Given the description of an element on the screen output the (x, y) to click on. 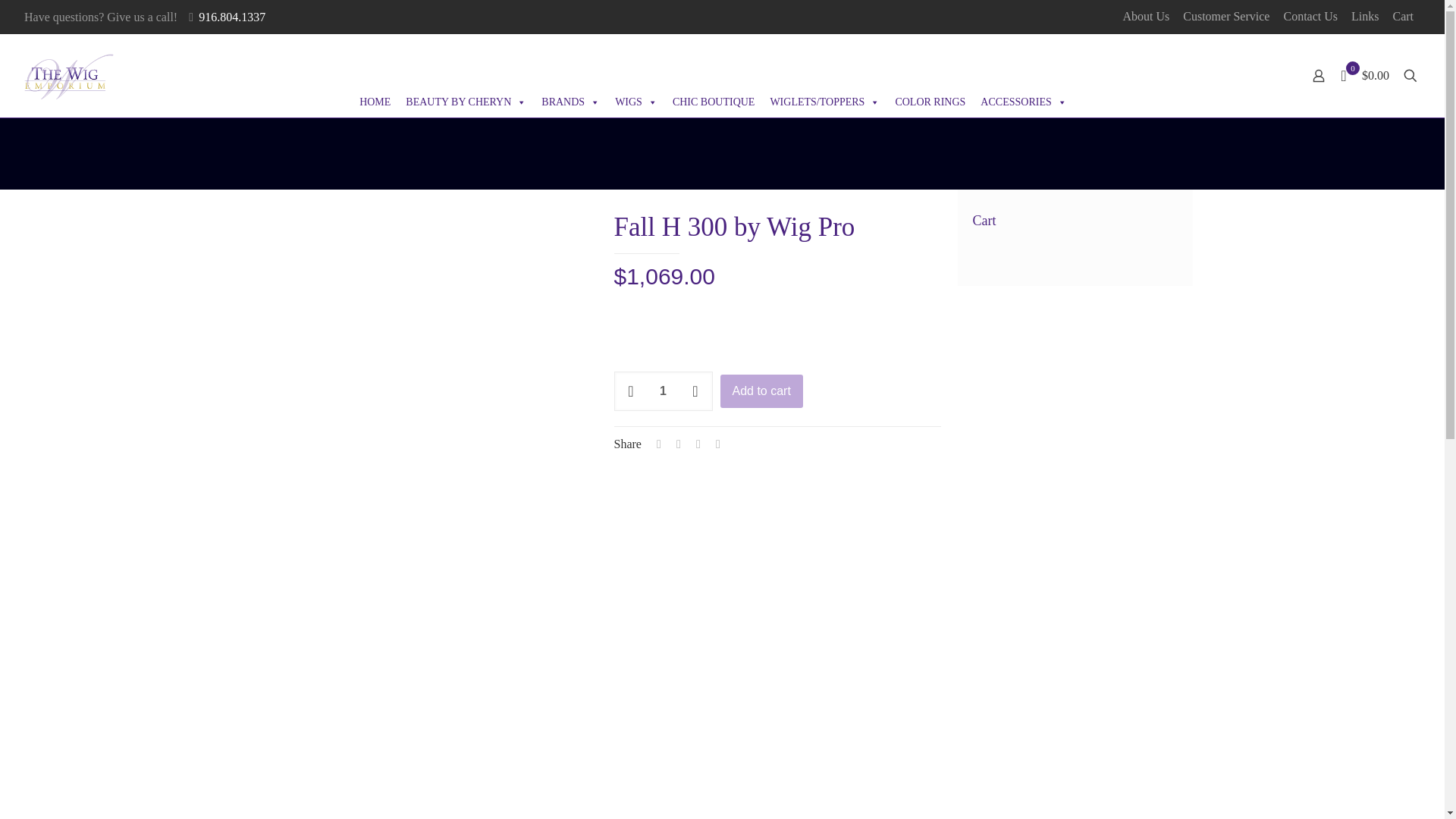
Customer Service (1225, 16)
BEAUTY BY CHERYN (465, 101)
HOME (374, 101)
Links (1364, 16)
About Us (1145, 16)
916.804.1337 (231, 16)
BRANDS (570, 101)
Cart (1402, 16)
Contact Us (1310, 16)
1 (663, 391)
